Given the description of an element on the screen output the (x, y) to click on. 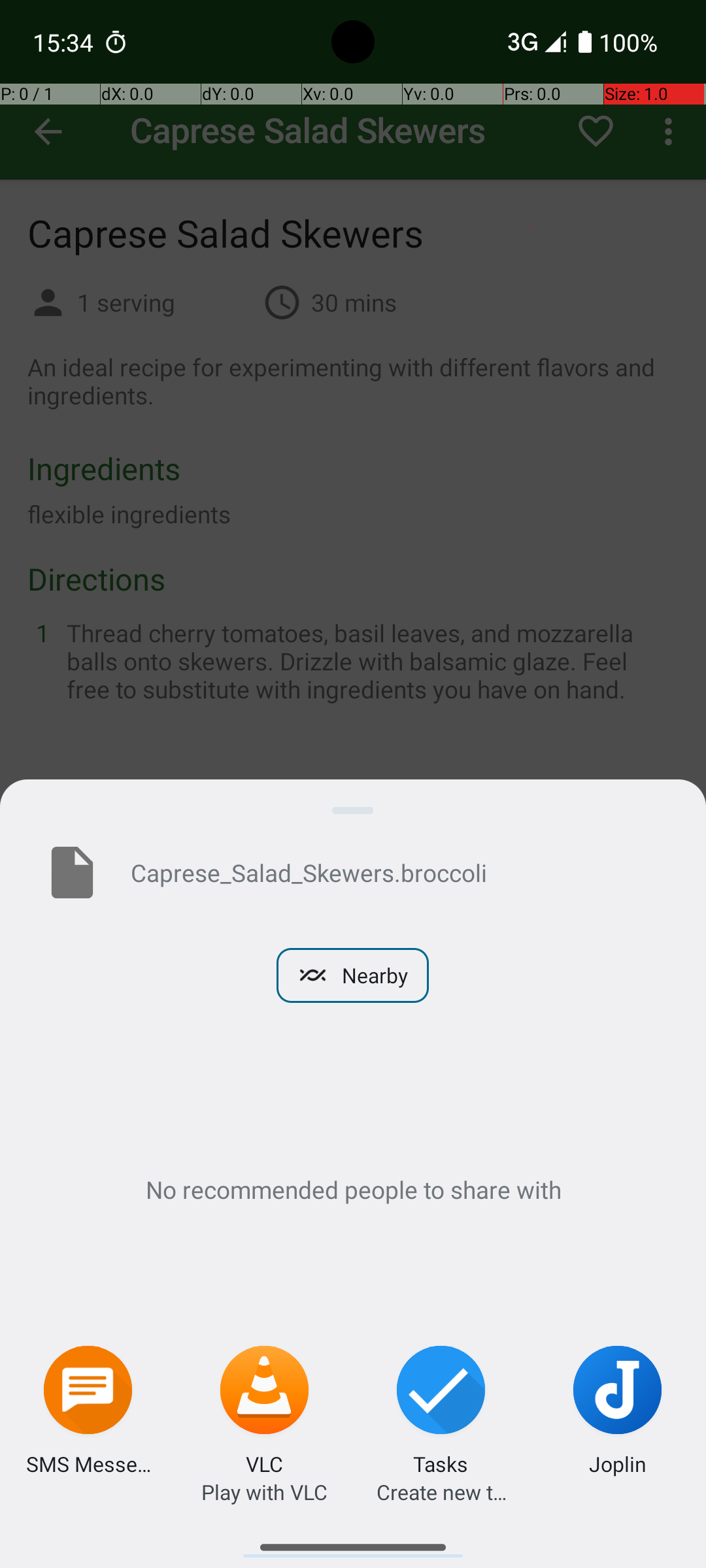
Apps list Element type: android.widget.ImageView (353, 1541)
Caprese_Salad_Skewers.broccoli Element type: android.widget.TextView (397, 872)
Nearby Element type: android.widget.Button (352, 975)
No recommended people to share with Element type: android.widget.TextView (353, 1189)
SMS Messenger Element type: android.widget.TextView (87, 1463)
Play with VLC Element type: android.widget.TextView (264, 1491)
Create new task Element type: android.widget.TextView (440, 1491)
Joplin Element type: android.widget.TextView (617, 1463)
